Given the description of an element on the screen output the (x, y) to click on. 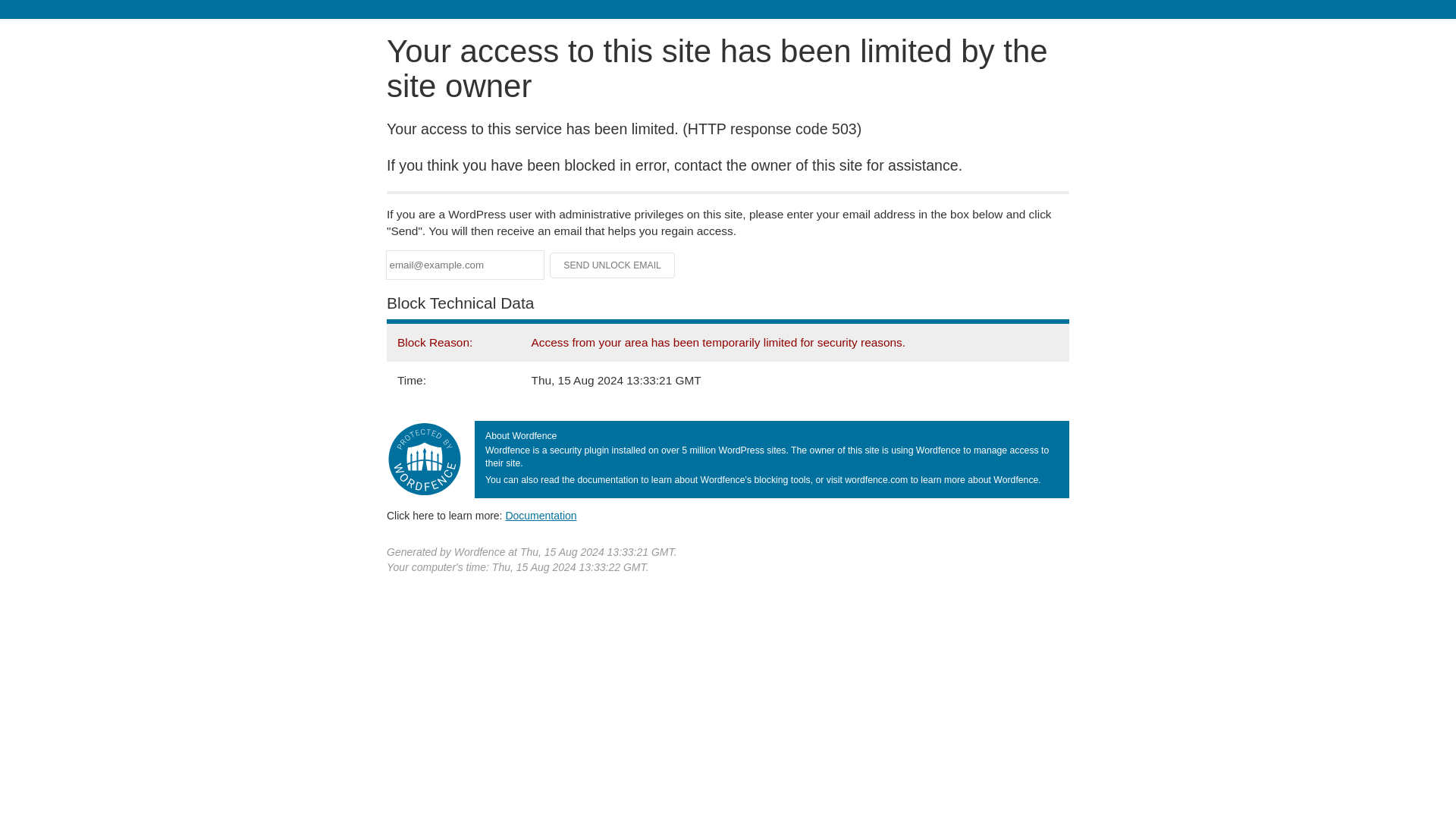
Send Unlock Email (612, 265)
Send Unlock Email (612, 265)
Documentation (540, 515)
